Given the description of an element on the screen output the (x, y) to click on. 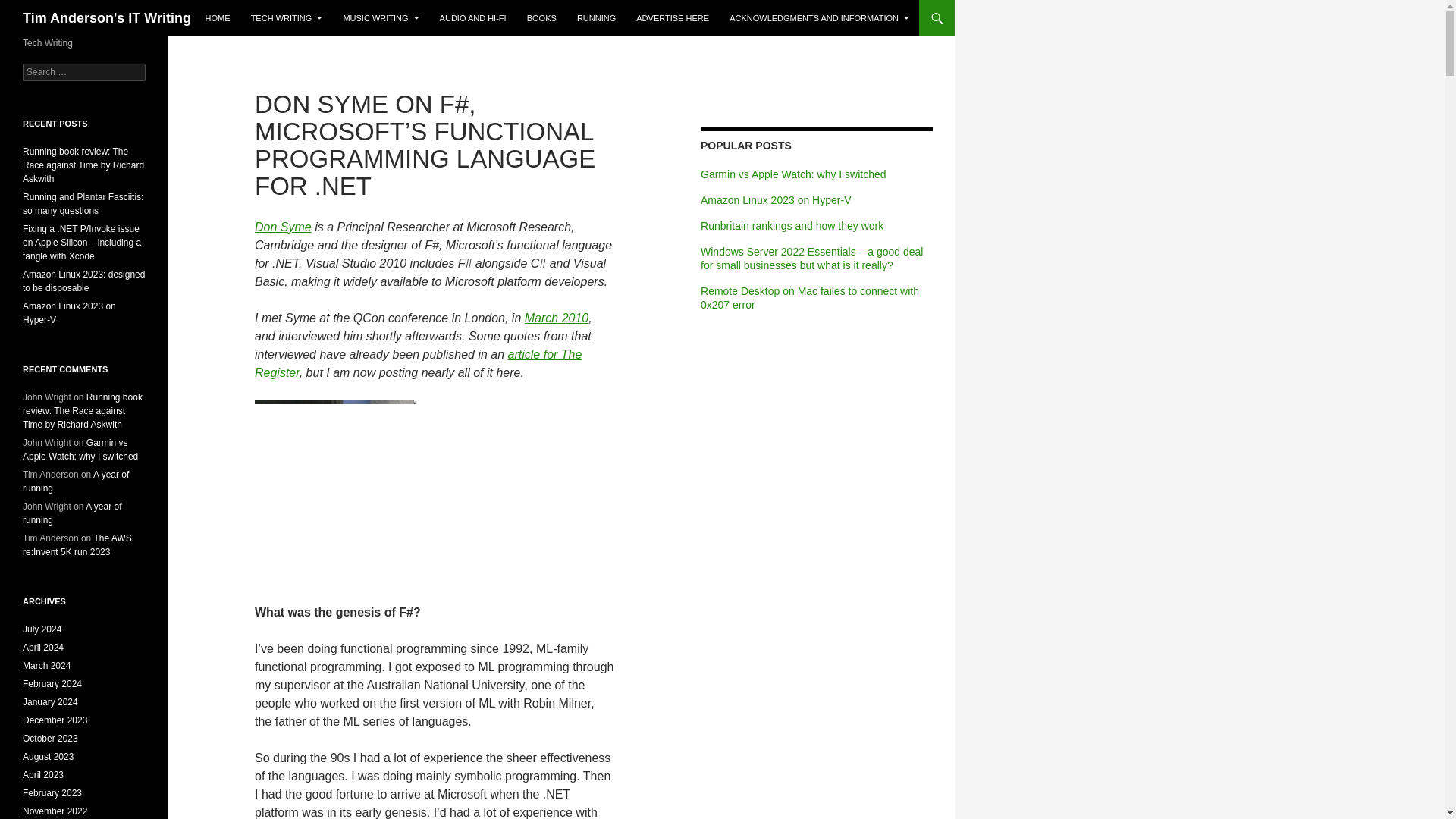
article for The Register (417, 363)
ADVERTISE HERE (672, 18)
MUSIC WRITING (380, 18)
BOOKS (542, 18)
Garmin vs Apple Watch: why I switched (793, 174)
HOME (218, 18)
Remote Desktop on Mac failes to connect with 0x207 error (809, 298)
Don Syme (282, 226)
RUNNING (595, 18)
ACKNOWLEDGMENTS AND INFORMATION (819, 18)
AUDIO AND HI-FI (472, 18)
Search (30, 8)
Amazon Linux 2023: designed to be disposable (83, 281)
Running and Plantar Fasciitis: so many questions (82, 203)
Runbritain rankings and how they work (791, 225)
